Given the description of an element on the screen output the (x, y) to click on. 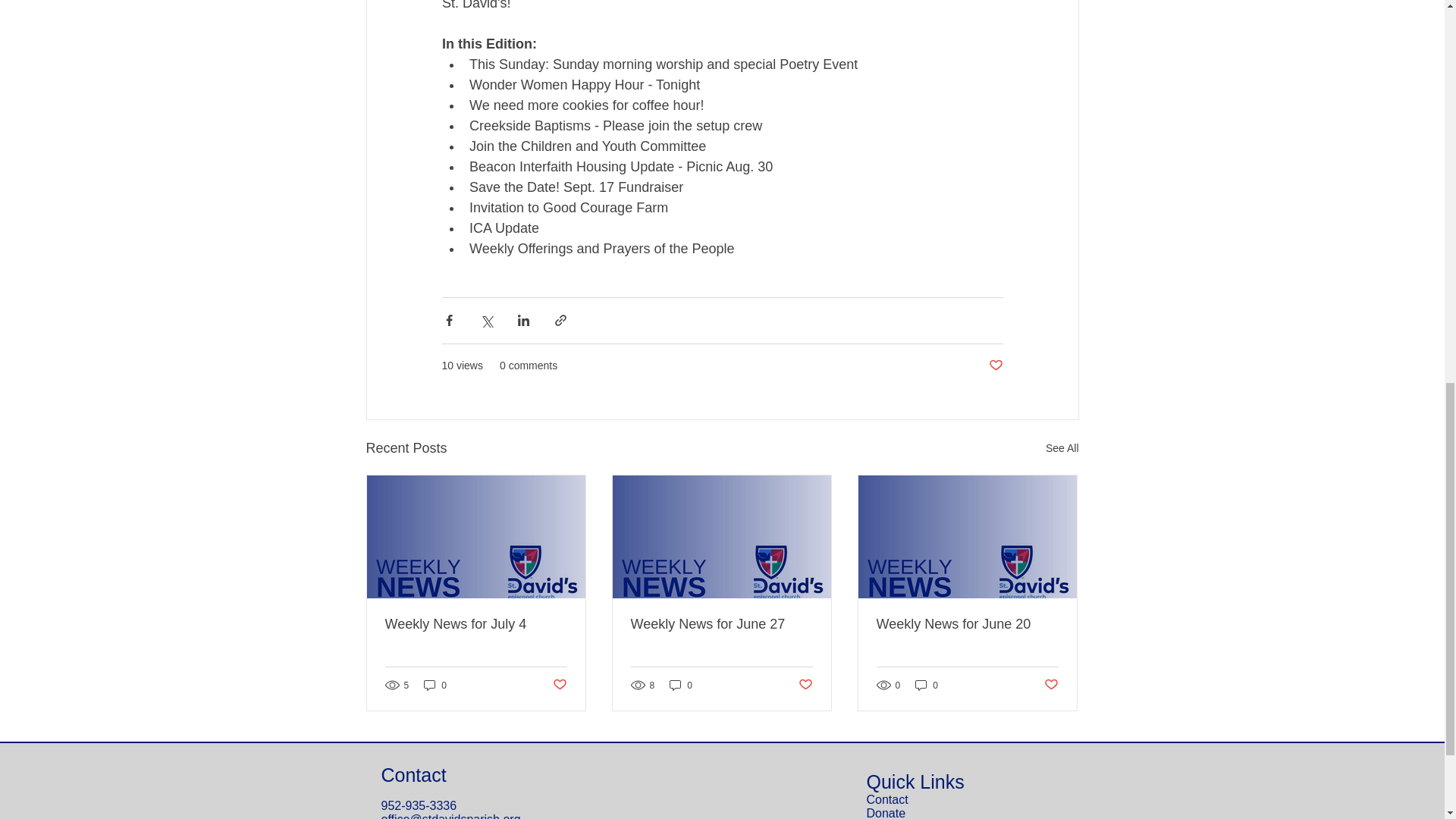
0 (681, 685)
See All (1061, 448)
0 (435, 685)
Weekly News for June 27 (721, 624)
Weekly News for July 4 (476, 624)
Post not marked as liked (995, 365)
Post not marked as liked (558, 684)
